Given the description of an element on the screen output the (x, y) to click on. 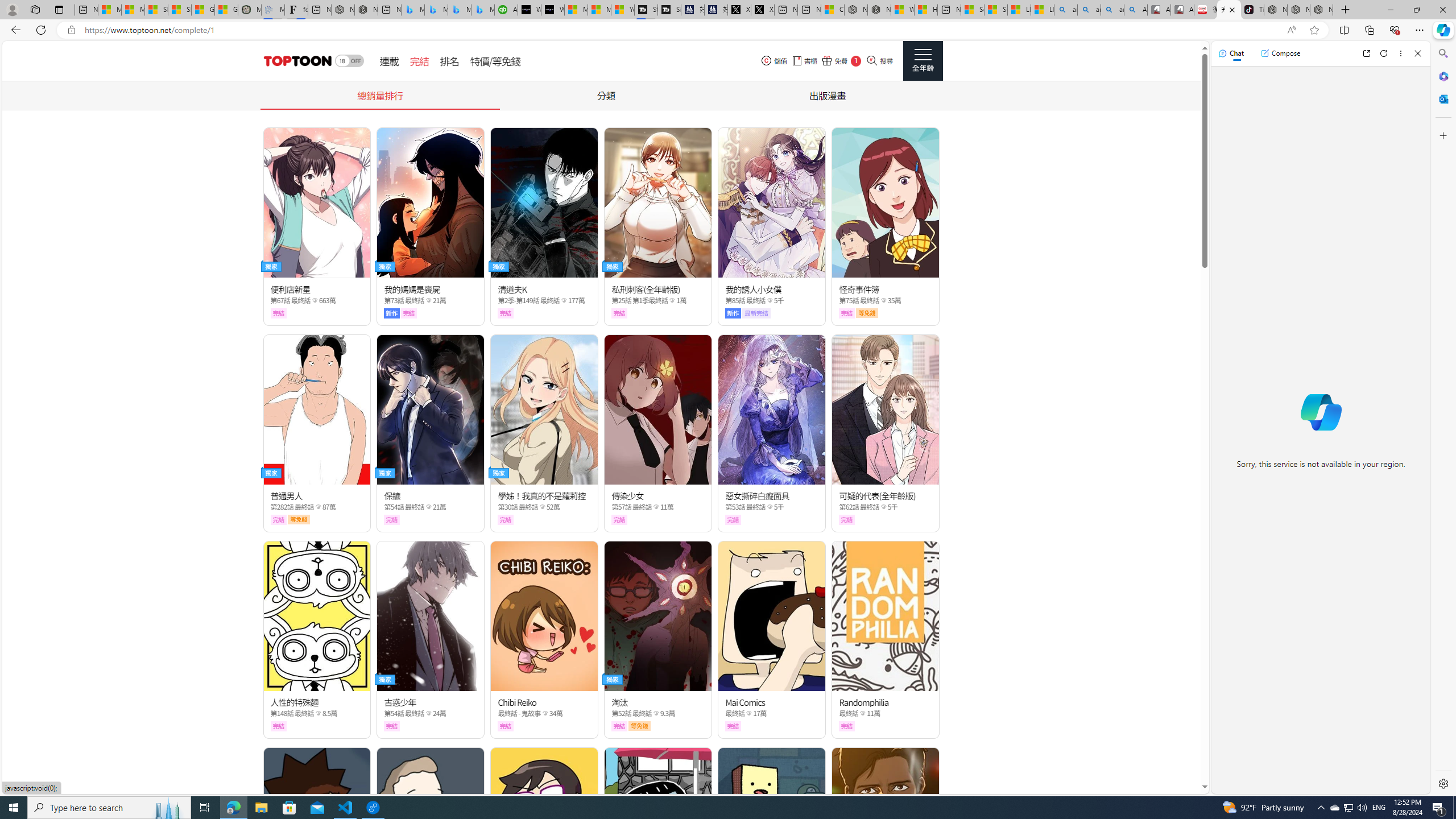
amazon - Search Images (1112, 9)
